Given the description of an element on the screen output the (x, y) to click on. 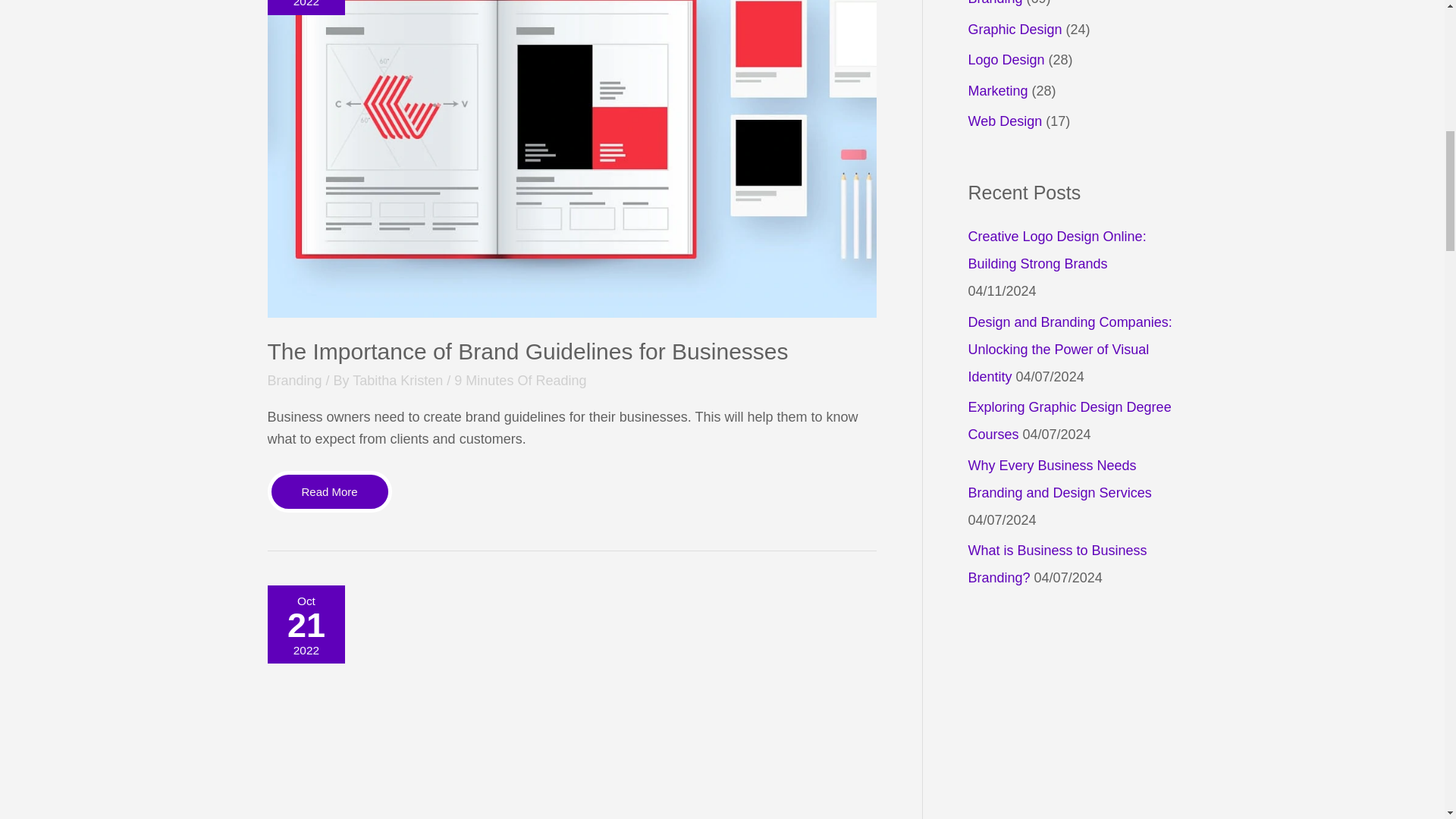
Tabitha Kristen (328, 491)
The Importance of Brand Guidelines for Businesses (399, 380)
Branding (526, 351)
View all posts by Tabitha Kristen (293, 380)
